Given the description of an element on the screen output the (x, y) to click on. 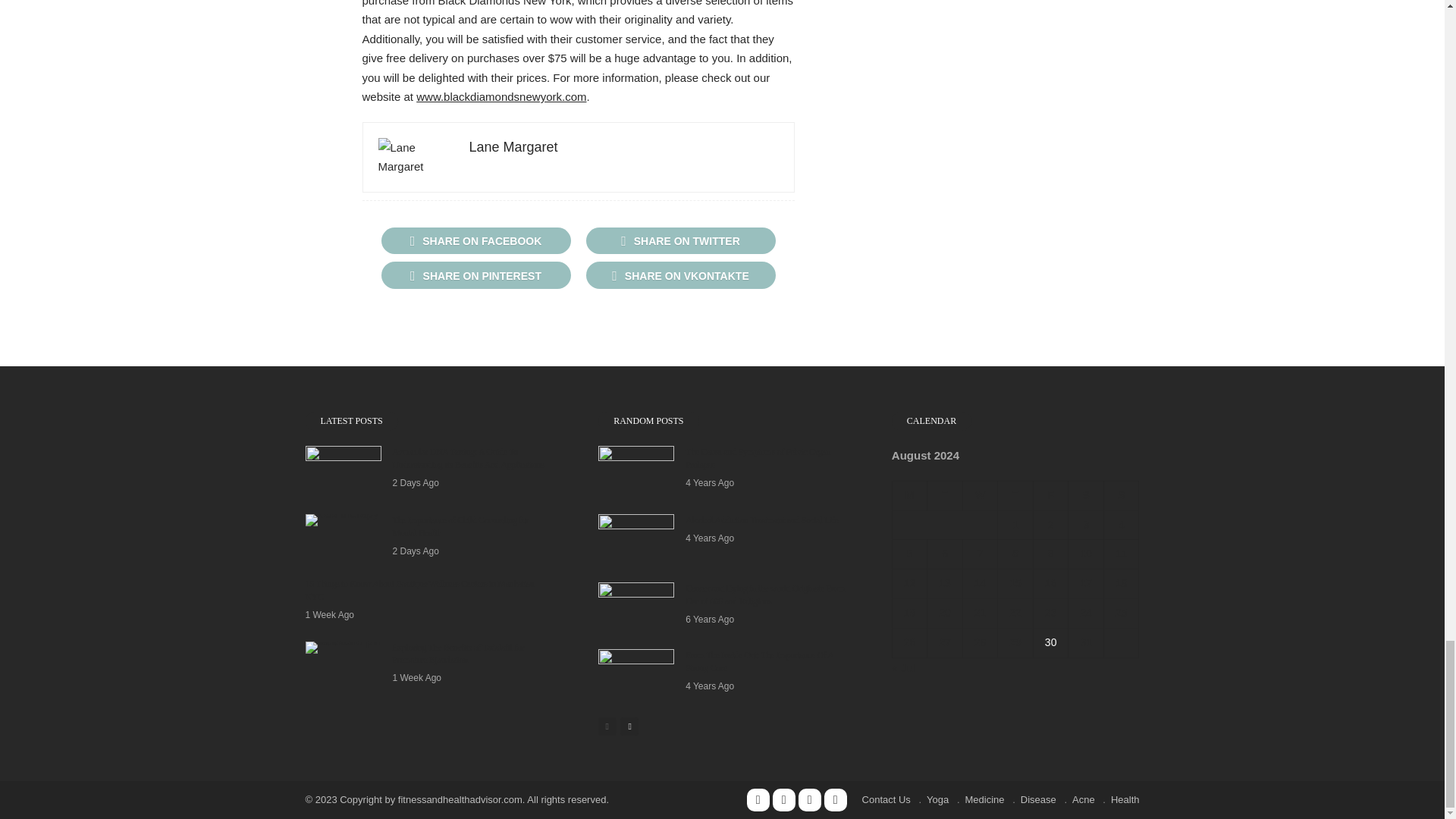
SHARE ON FACEBOOK (475, 240)
Lane Margaret (512, 146)
SHARE ON TWITTER (679, 240)
SHARE ON PINTEREST (475, 274)
www.blackdiamondsnewyork.com (501, 96)
